Given the description of an element on the screen output the (x, y) to click on. 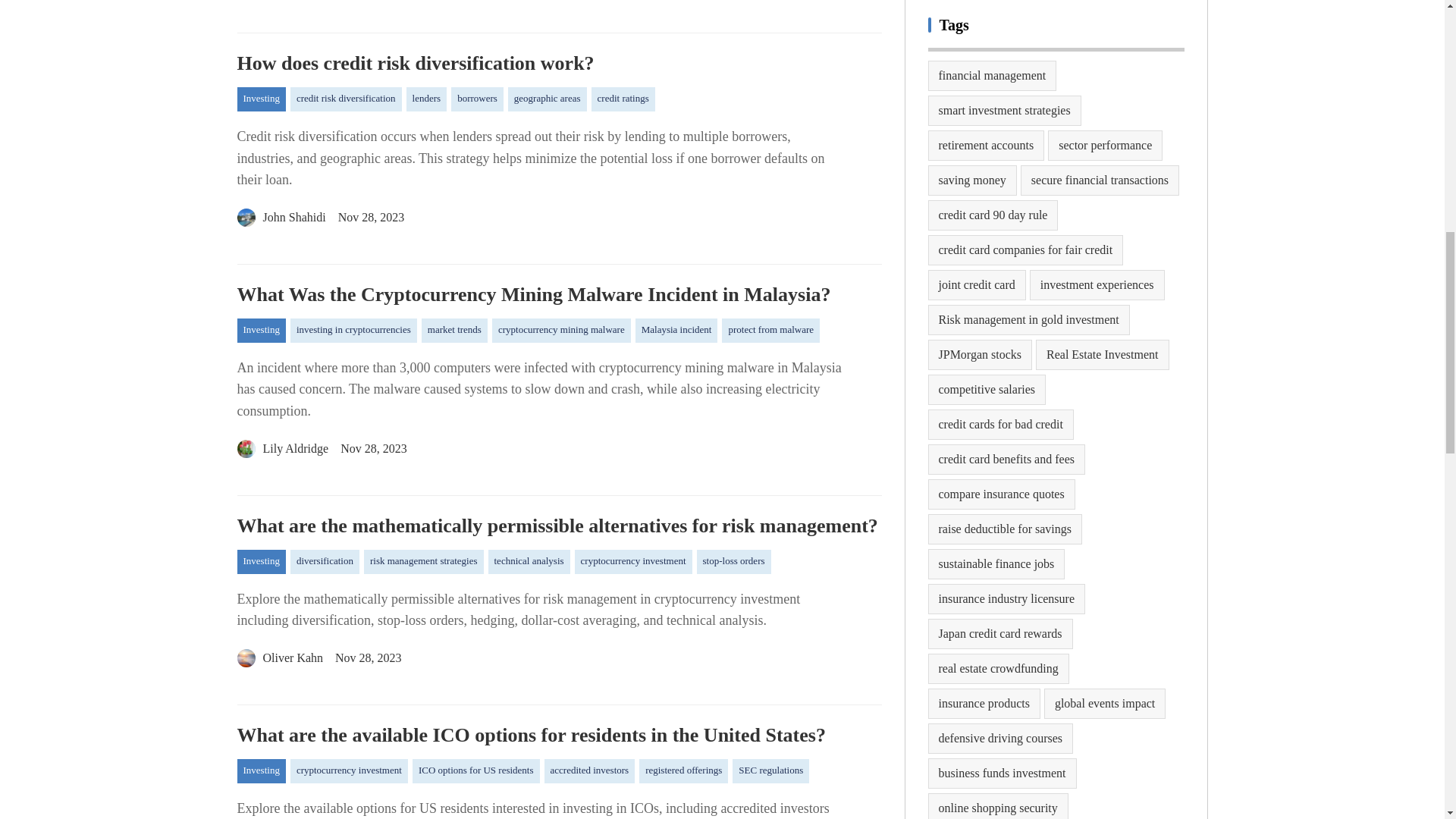
Investing (260, 98)
lenders (426, 98)
How does credit risk diversification work? (557, 63)
credit risk diversification (345, 98)
